Given the description of an element on the screen output the (x, y) to click on. 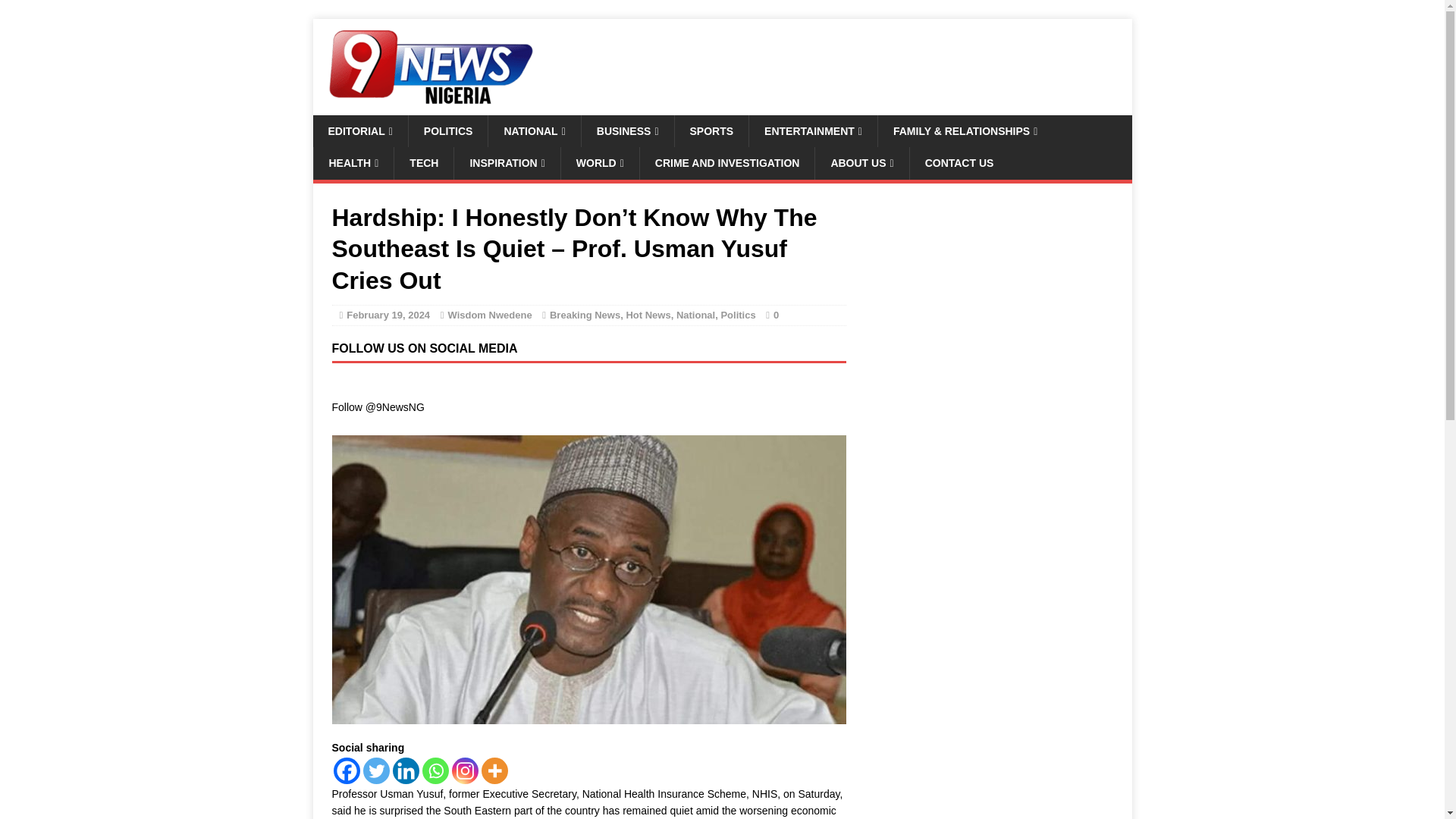
Breaking News (585, 315)
EDITORIAL (360, 131)
POLITICS (447, 131)
BUSINESS (627, 131)
HEALTH (353, 163)
February 19, 2024 (387, 315)
TECH (422, 163)
Hot News (647, 315)
WORLD (599, 163)
National (695, 315)
